Given the description of an element on the screen output the (x, y) to click on. 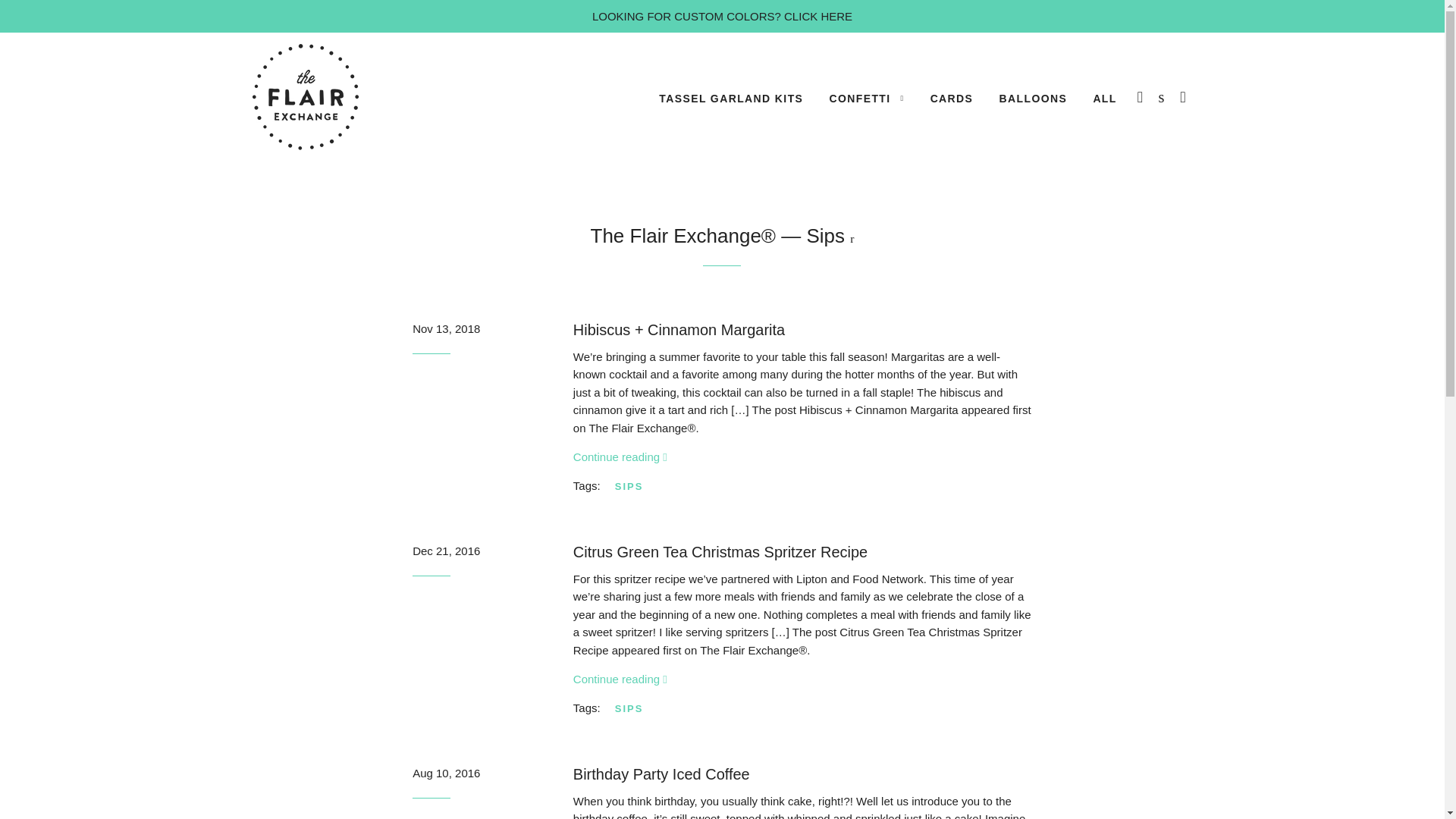
SIPS (633, 486)
Continue reading (619, 678)
CONFETTI (865, 98)
CARDS (951, 98)
ALL (1103, 98)
TASSEL GARLAND KITS (730, 98)
Citrus Green Tea Christmas Spritzer Recipe (720, 551)
SIPS (633, 708)
BALLOONS (1033, 98)
Continue reading (619, 456)
